Given the description of an element on the screen output the (x, y) to click on. 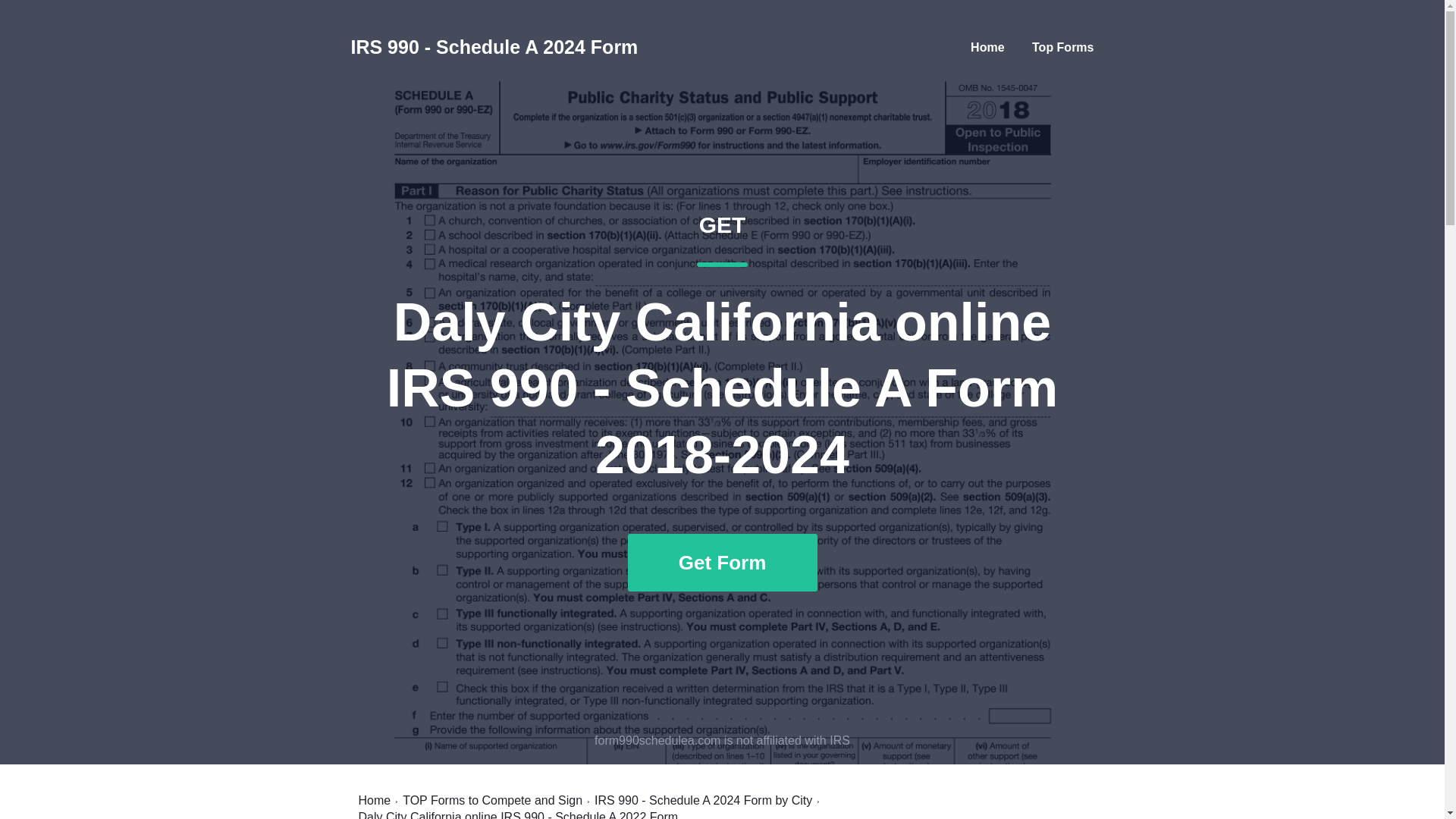
IRS 990 - Schedule A 2024 Form by City (703, 800)
Home (987, 47)
Home (374, 800)
TOP Forms to Compete and Sign (492, 800)
IRS 990 - Schedule A 2024 Form (493, 46)
Top Forms (1062, 47)
